Given the description of an element on the screen output the (x, y) to click on. 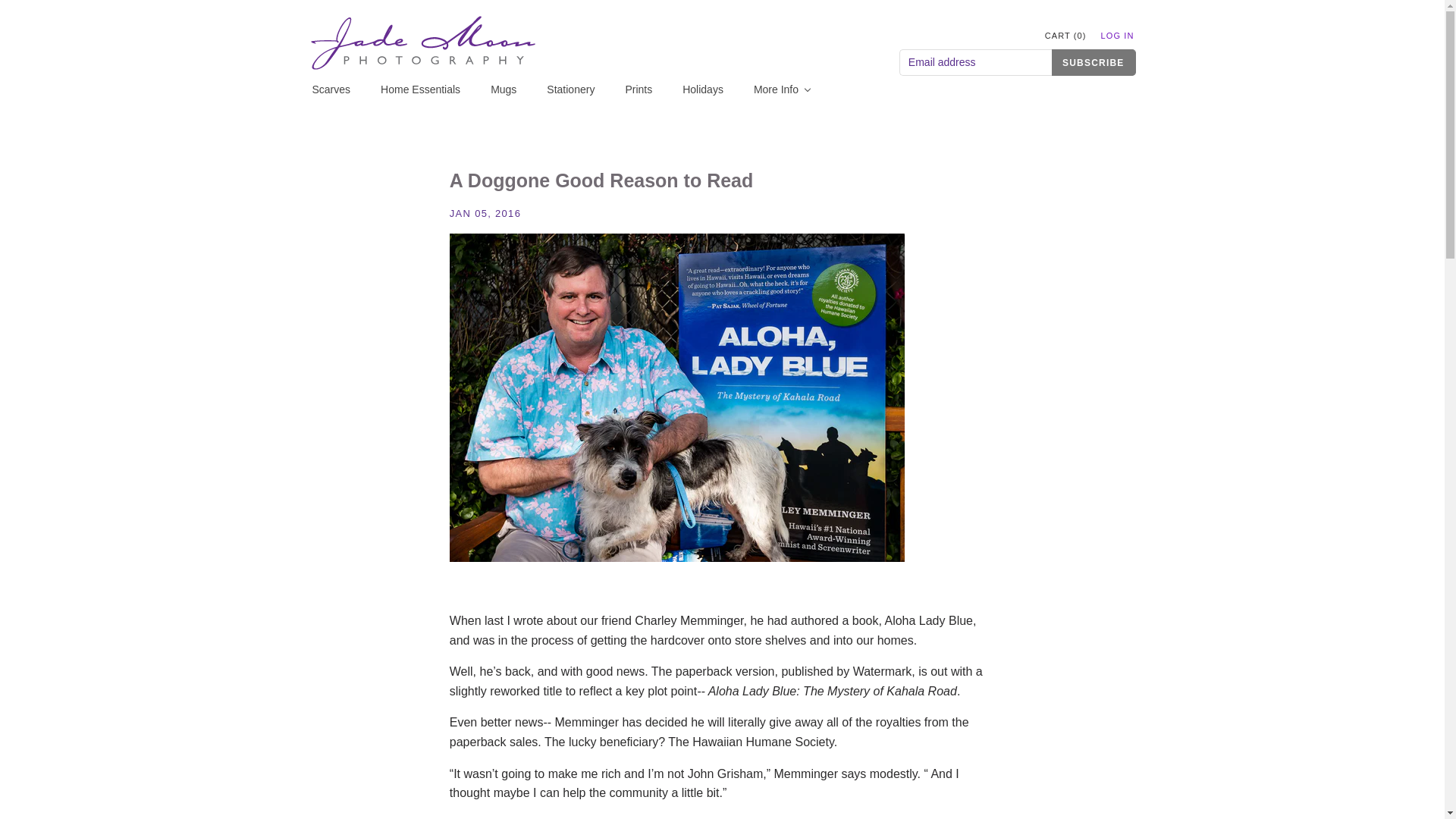
Stationery (582, 89)
Holidays (715, 89)
Home Essentials (432, 89)
Subscribe (1093, 62)
Scarves (343, 89)
Mugs (515, 89)
Subscribe (1093, 62)
Prints (650, 89)
LOG IN (1110, 35)
More Info (796, 89)
